Given the description of an element on the screen output the (x, y) to click on. 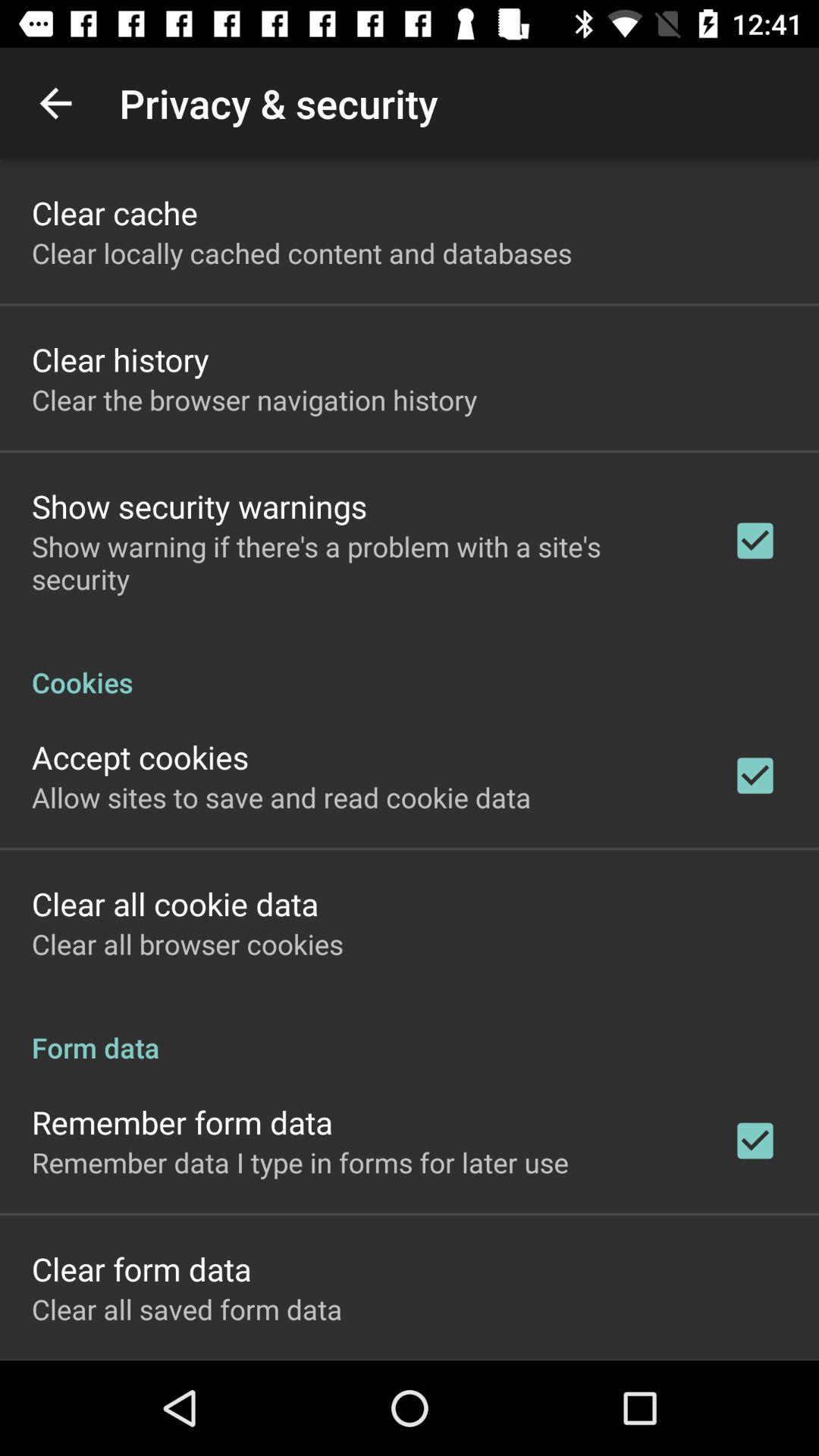
tap the app next to privacy & security (55, 103)
